Given the description of an element on the screen output the (x, y) to click on. 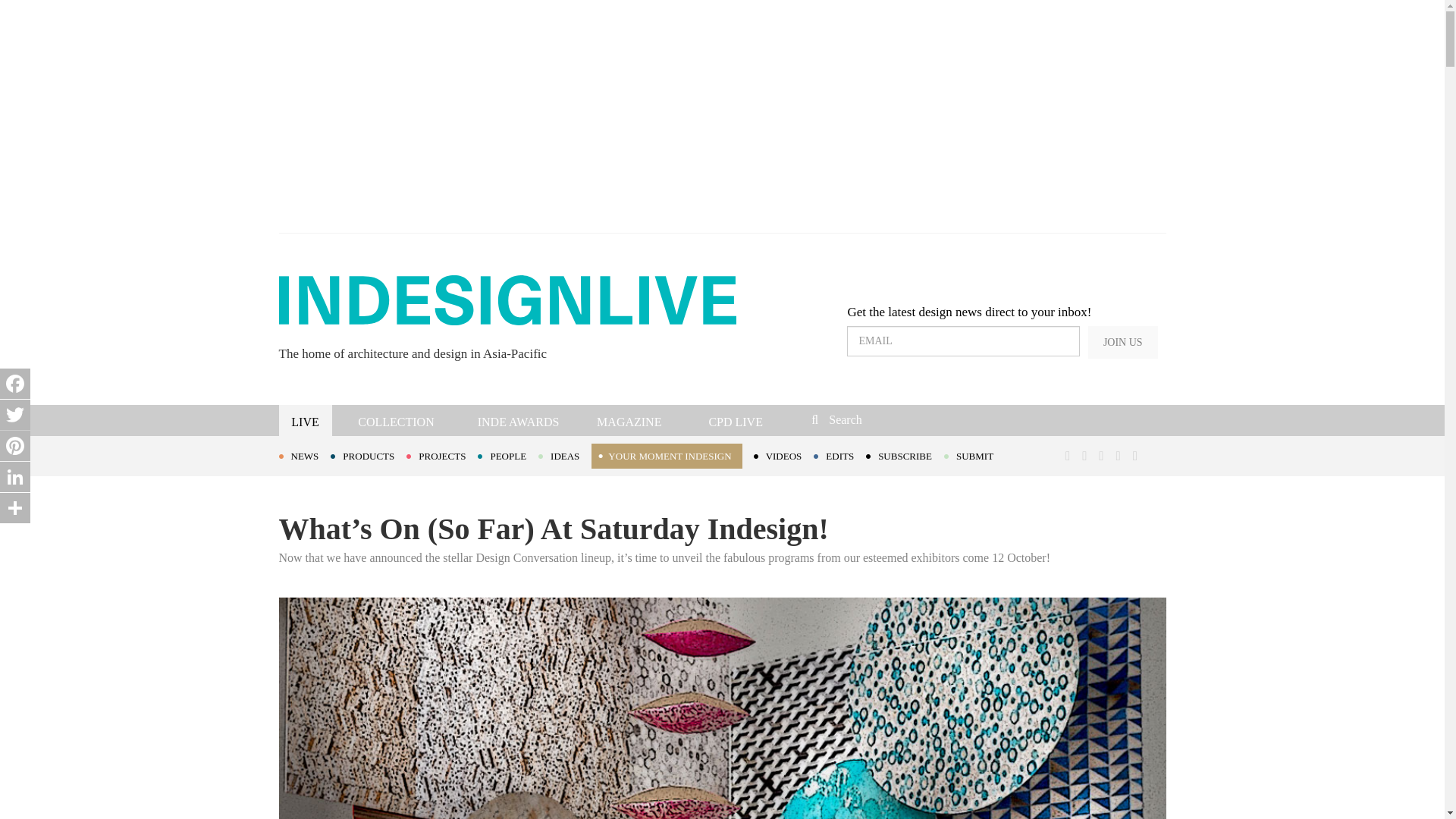
SUBSCRIBE (904, 455)
YOUR MOMENT INDESIGN (666, 455)
EDITS (839, 455)
PRODUCTS (368, 455)
JOIN US (1122, 341)
PEOPLE (507, 455)
SUBMIT (974, 455)
NEWS (305, 455)
VIDEOS (783, 455)
IDEAS (564, 455)
PROJECTS (441, 455)
Search (913, 418)
